Given the description of an element on the screen output the (x, y) to click on. 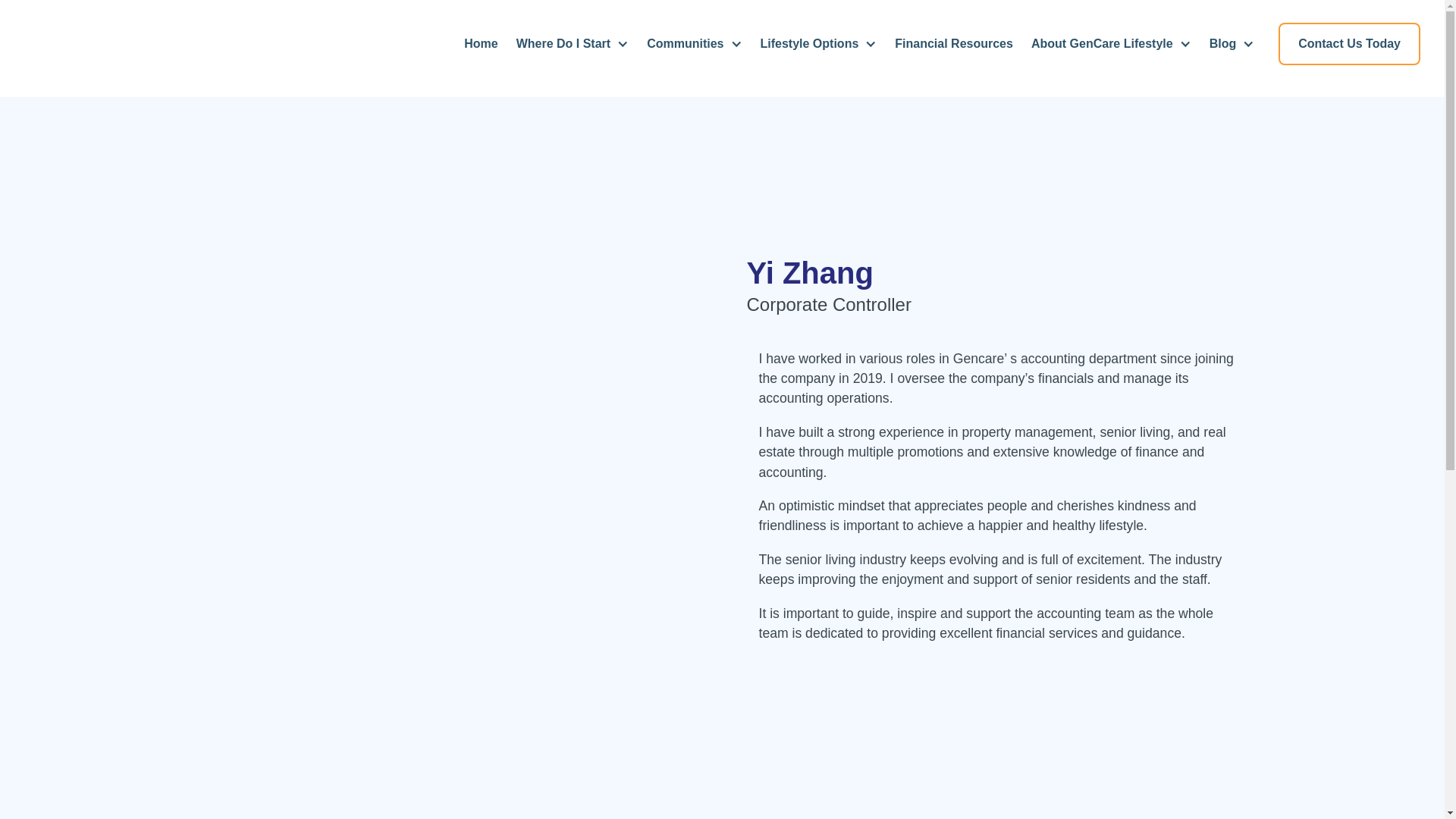
Contact Us Today (1349, 43)
Financial Resources (954, 43)
Home (480, 43)
